Given the description of an element on the screen output the (x, y) to click on. 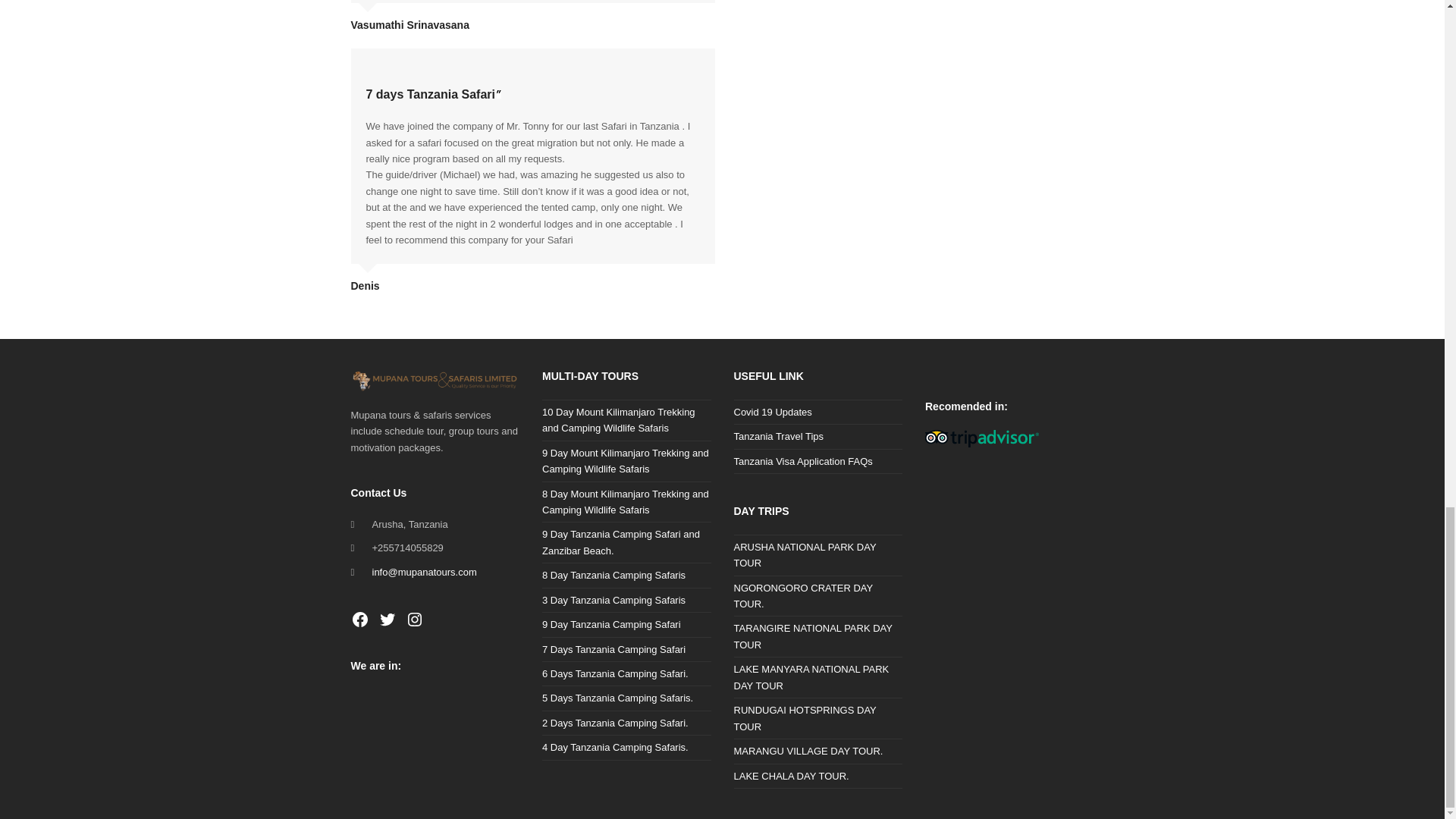
8 Day Tanzania Camping Safaris (613, 574)
7 Days Tanzania Camping Safari (613, 649)
9 Day Tanzania Camping Safari (611, 624)
3 Day Tanzania Camping Safaris (613, 600)
9 Day Tanzania Camping Safari and Zanzibar Beach. (620, 542)
6 Days Tanzania Camping Safari. (614, 673)
5 Days Tanzania Camping Safaris. (617, 697)
Instagram (413, 619)
2 Days Tanzania Camping Safari. (614, 722)
Facebook (359, 619)
Twitter (386, 619)
